Given the description of an element on the screen output the (x, y) to click on. 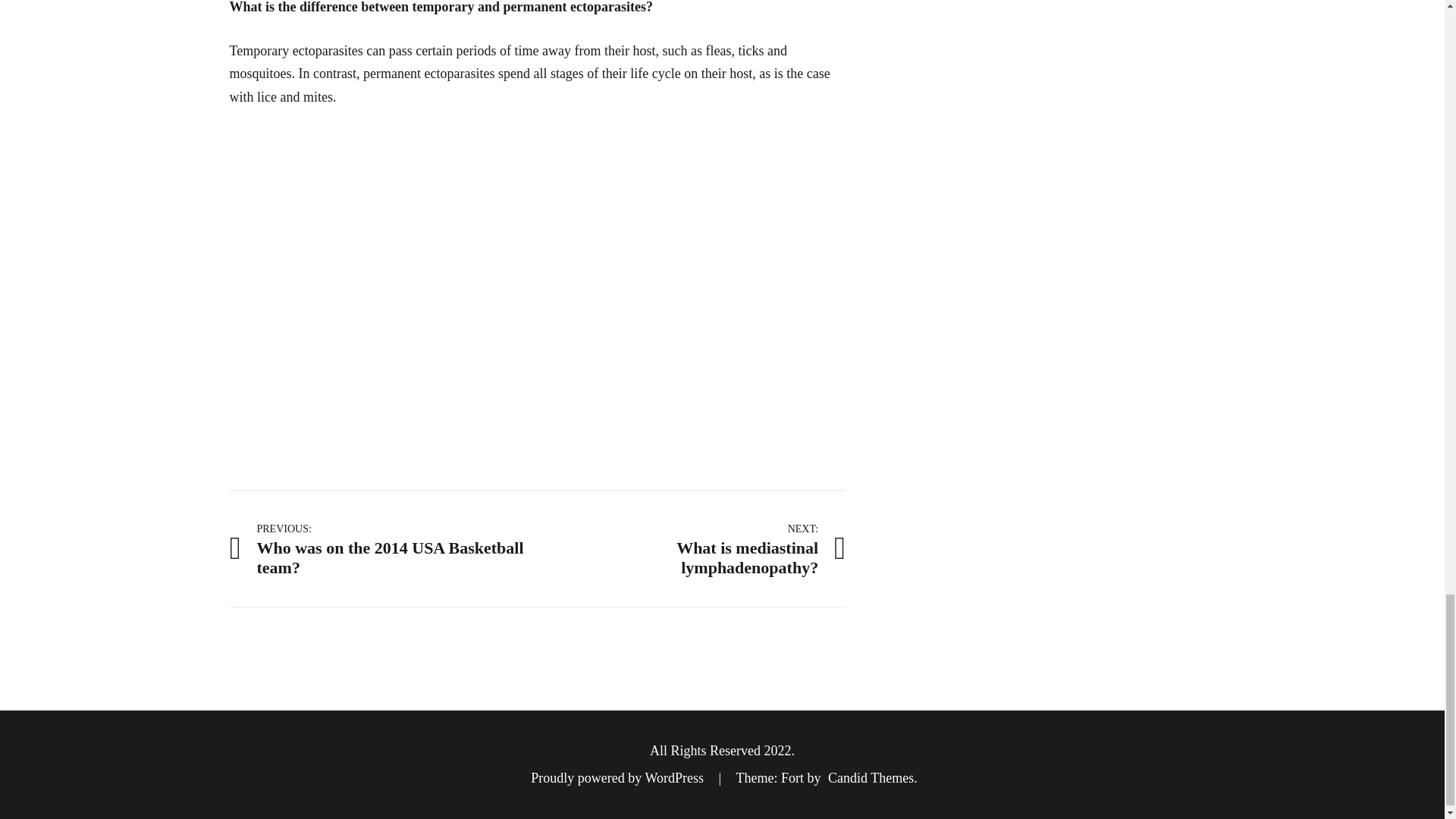
Proudly powered by WordPress (691, 547)
Democracy - A short introduction (382, 547)
Candid Themes (618, 777)
